Given the description of an element on the screen output the (x, y) to click on. 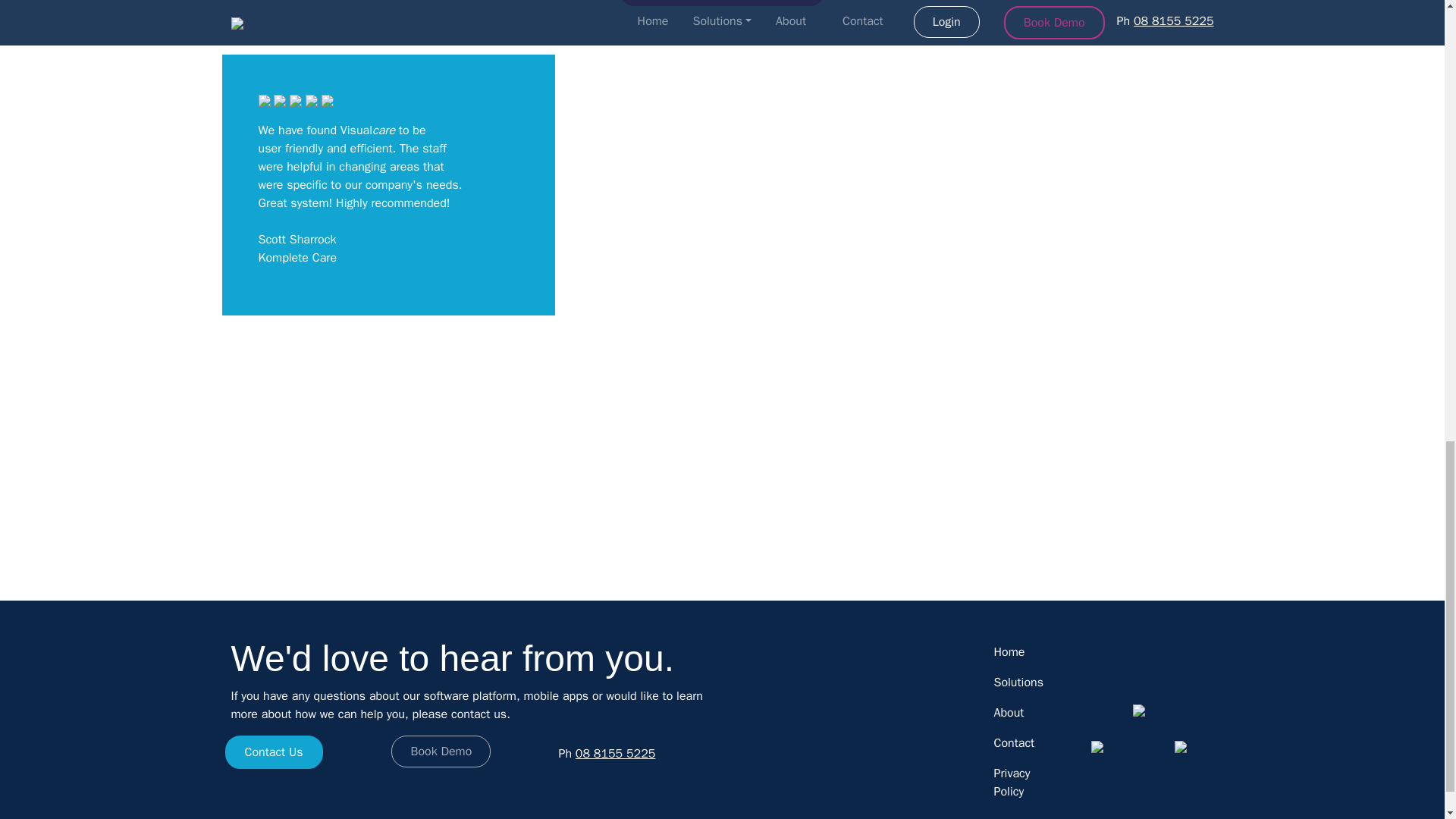
Contact (1013, 743)
08 8155 5225 (615, 753)
About (1013, 712)
We'd love to hear from you (722, 2)
Book Demo (440, 751)
Privacy Policy (1013, 782)
Solutions (1013, 682)
Contact Us (272, 752)
Home (1013, 652)
